Given the description of an element on the screen output the (x, y) to click on. 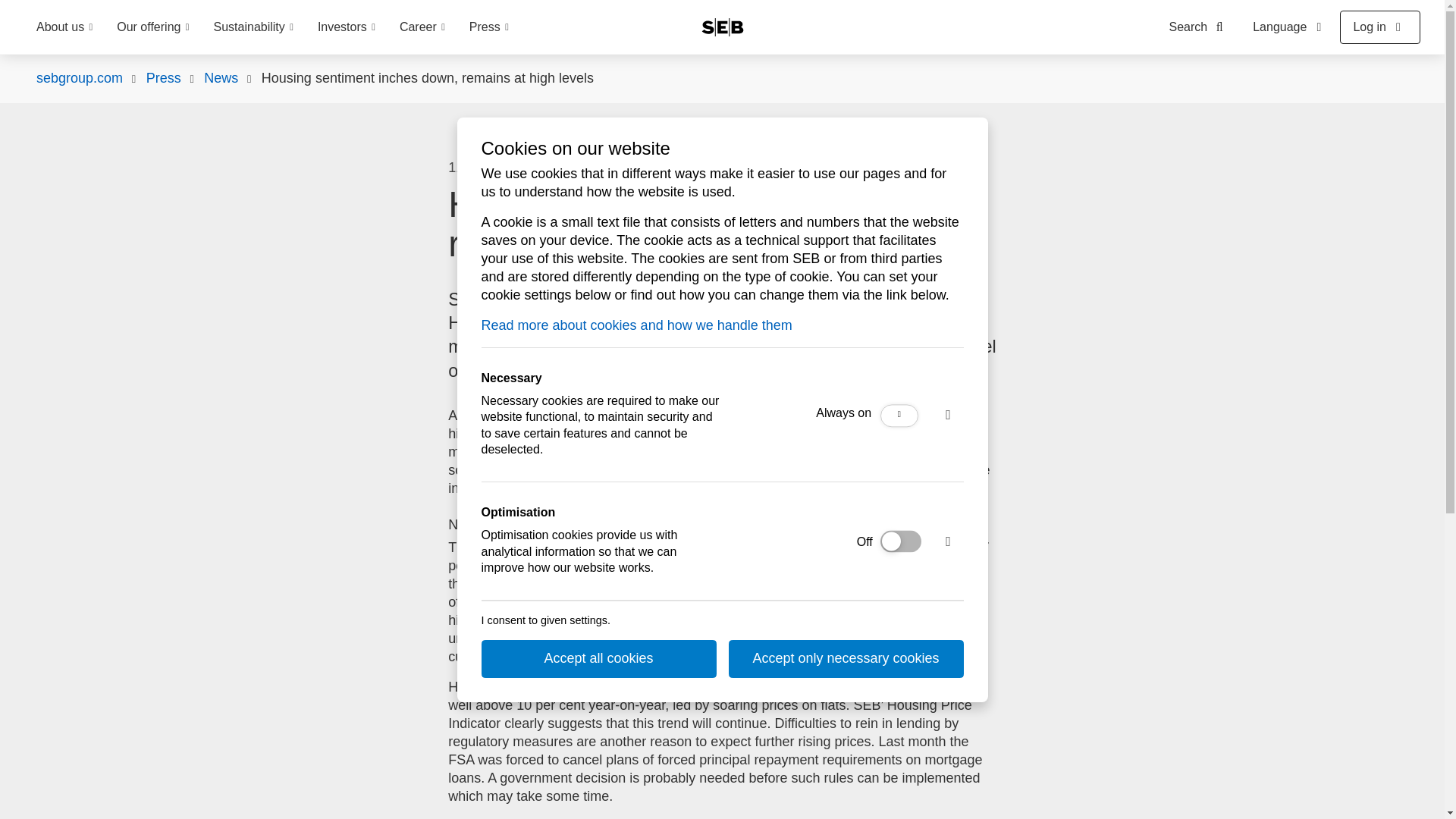
Press (163, 78)
Investors (346, 27)
Press (489, 27)
News (220, 78)
Sustainability (253, 27)
sebgroup.com (79, 78)
Facebook (632, 168)
LinkedIn (665, 168)
Language (1289, 27)
About us (64, 27)
Career (422, 27)
Twitter (699, 168)
Log in (1380, 27)
E-mail (599, 168)
Search (1199, 27)
